Given the description of an element on the screen output the (x, y) to click on. 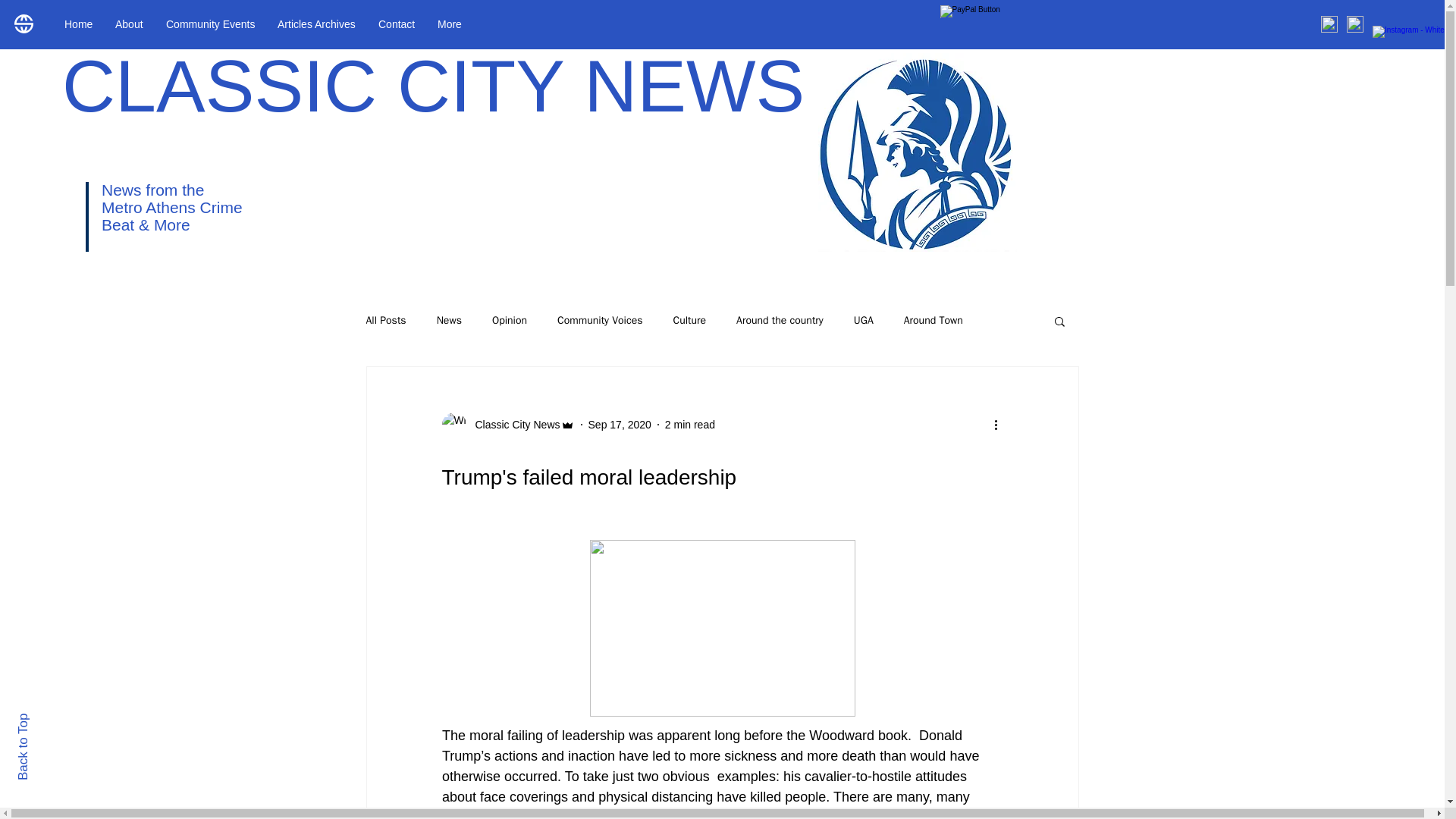
2 min read (689, 424)
Around Town (933, 320)
Contact (396, 24)
News (448, 320)
All Posts (385, 320)
Community Events (210, 24)
CLASSIC CITY NEWS (433, 86)
About (128, 24)
Culture (689, 320)
Articles Archives (316, 24)
Classic City News (507, 424)
Classic City News (512, 424)
Home (77, 24)
Community Voices (599, 320)
Sep 17, 2020 (619, 424)
